Given the description of an element on the screen output the (x, y) to click on. 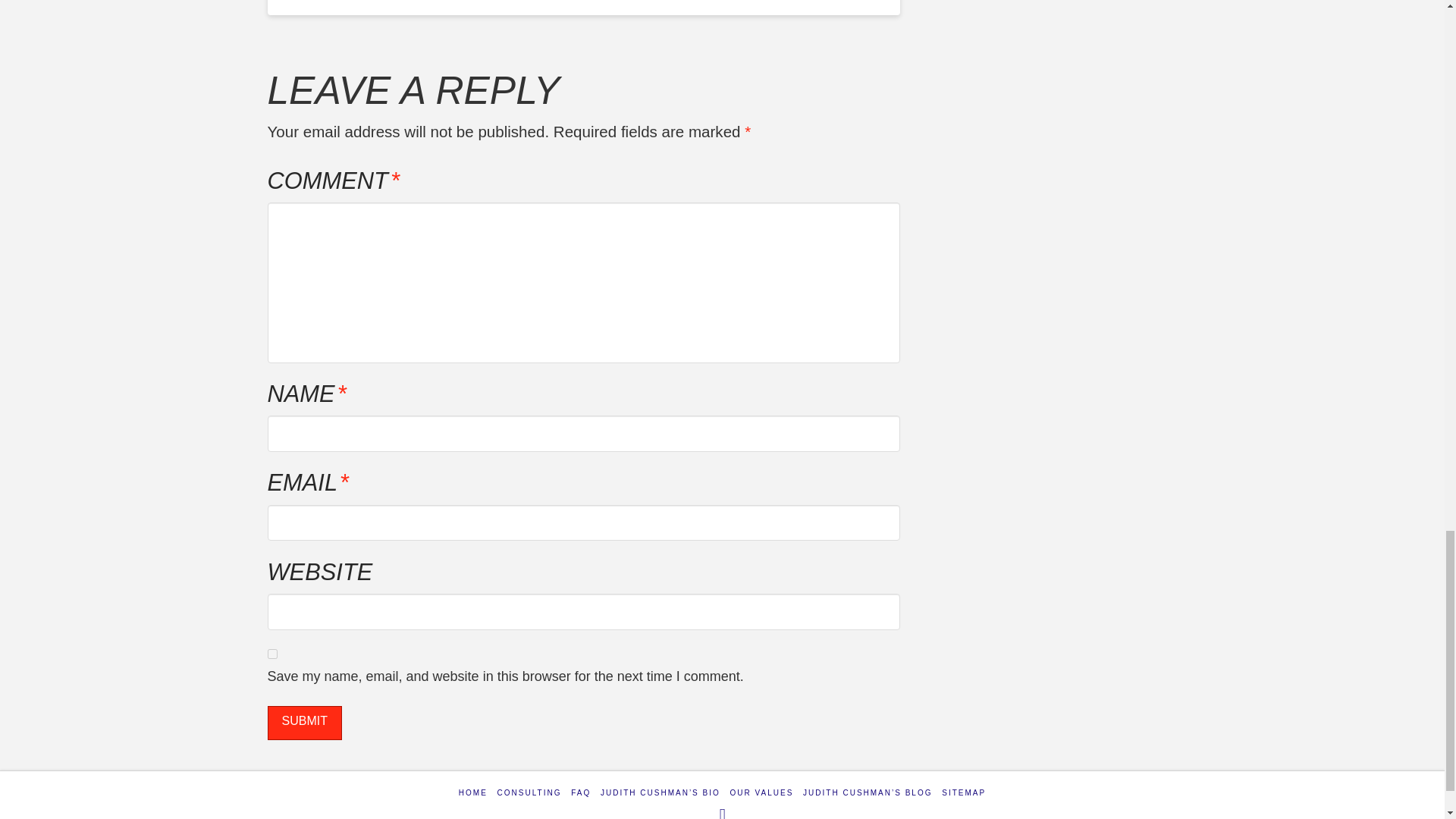
Submit (303, 722)
yes (271, 654)
Submit (303, 722)
